Given the description of an element on the screen output the (x, y) to click on. 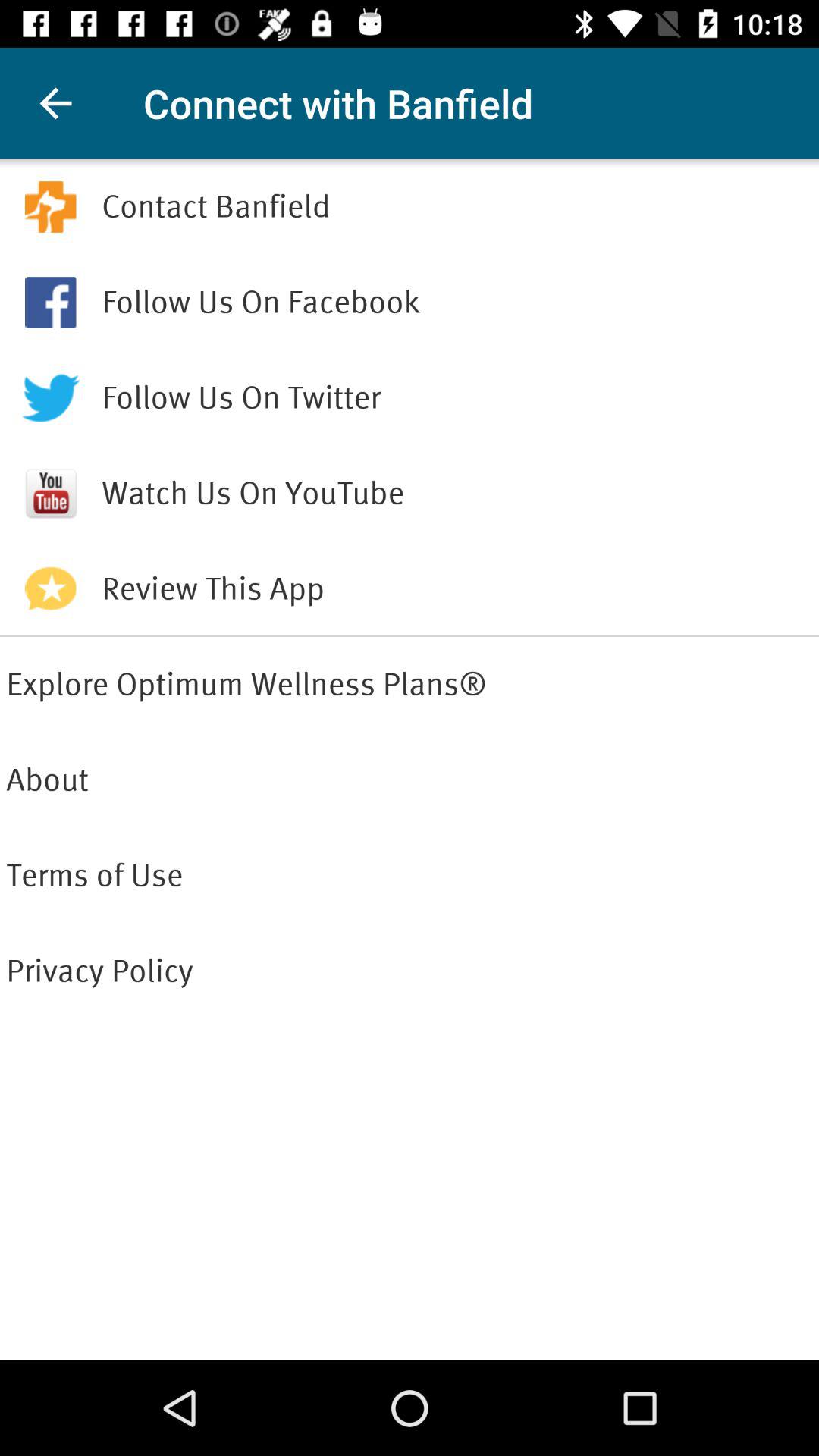
launch icon to the left of connect with banfield icon (55, 103)
